Given the description of an element on the screen output the (x, y) to click on. 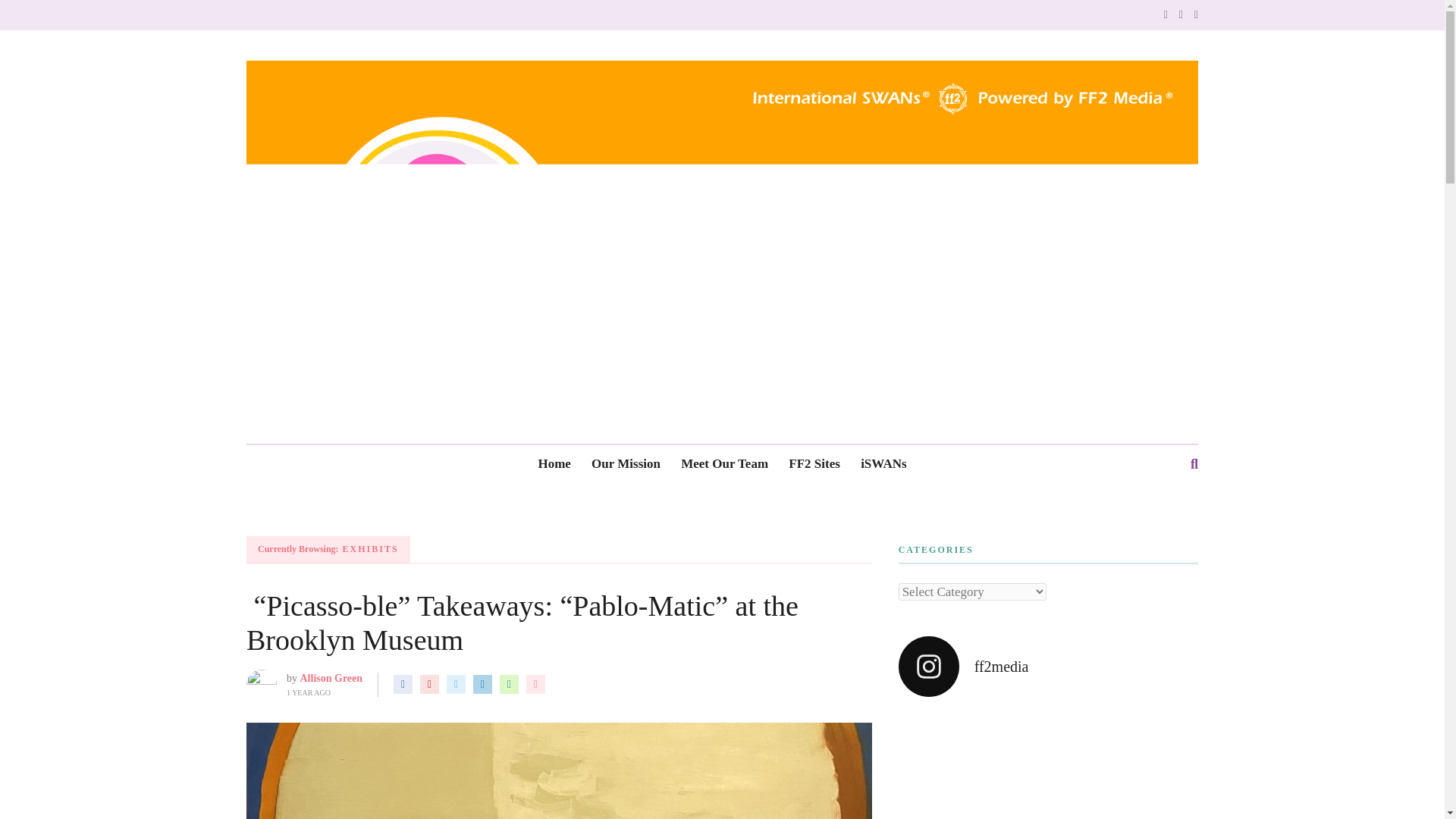
Meet Our Team (724, 464)
FF2 Sites (814, 464)
iSWANs (882, 464)
Posts by Allison Green (330, 677)
Allison Green (330, 677)
Our Mission (626, 464)
